Given the description of an element on the screen output the (x, y) to click on. 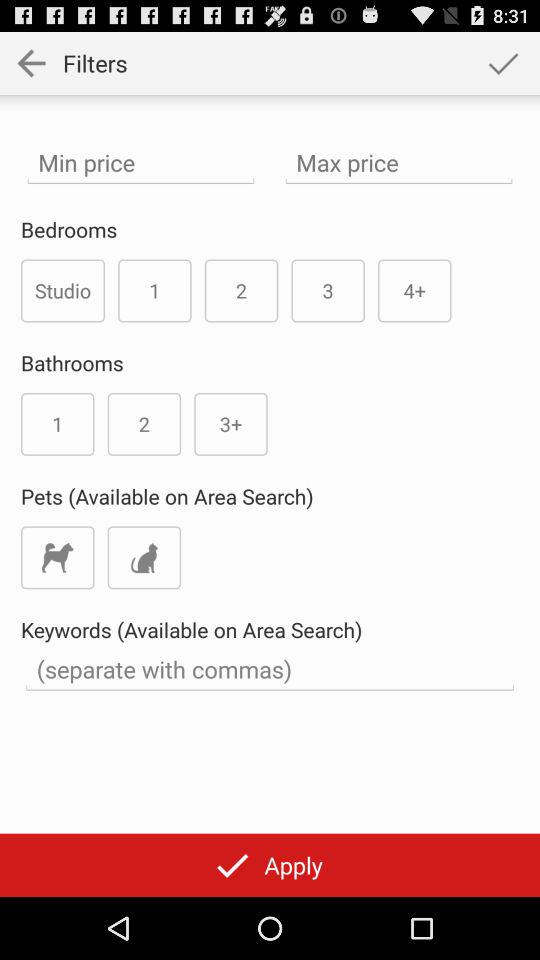
enter max price (398, 162)
